Given the description of an element on the screen output the (x, y) to click on. 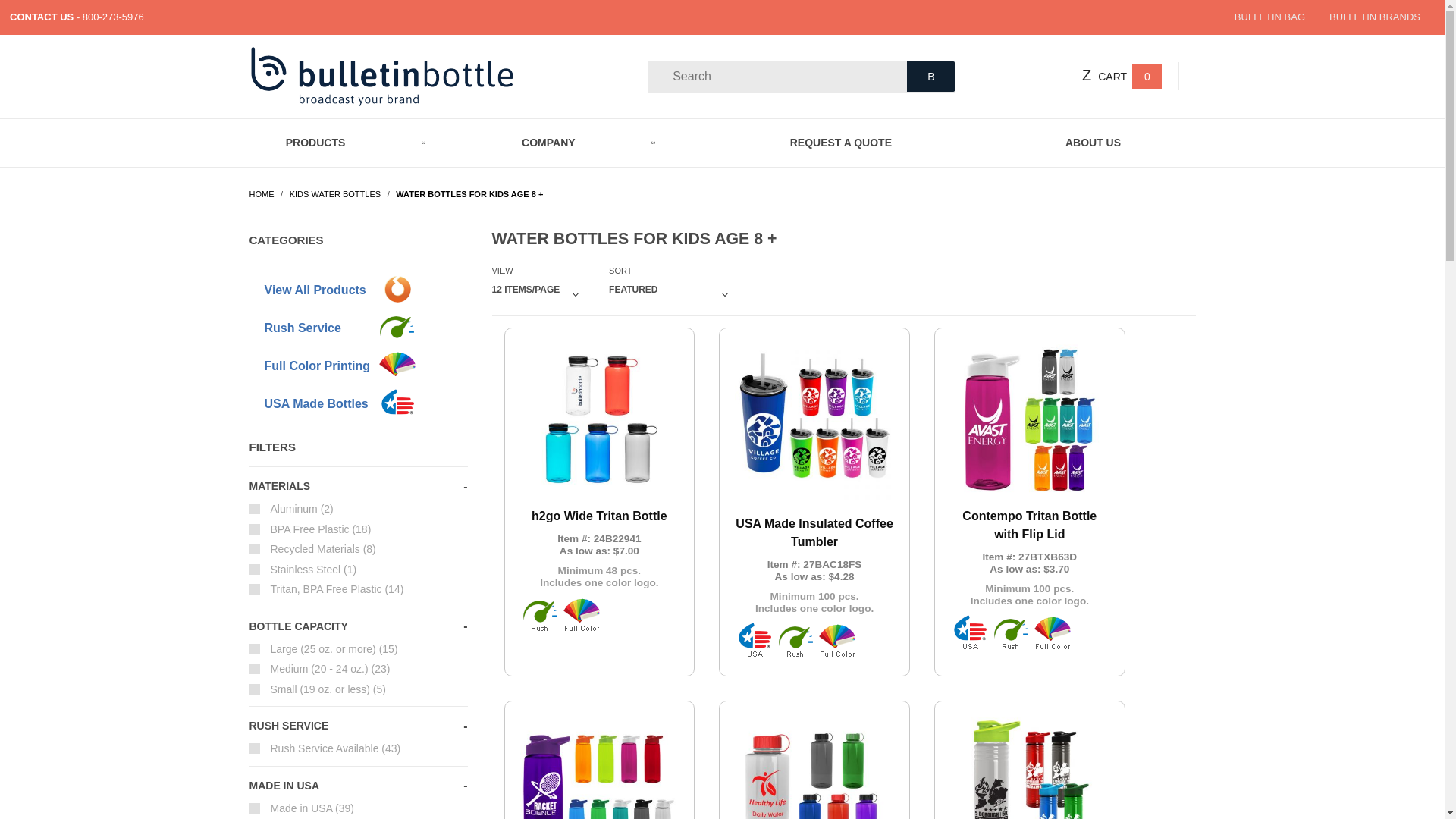
Sign In (1071, 139)
ABOUT US (1092, 141)
CONTACT US (42, 16)
Kids Water Bottles (335, 194)
BULLETIN BRANDS (1375, 17)
Contempo Recycled Tritan Bottle with Flip Lid (599, 767)
USA Made Insulated Coffee Tumbler (814, 481)
PRODUCTS (353, 141)
CART 0 (1130, 76)
Home (262, 194)
Recycled Tall Bottle with Flip Lid (1029, 767)
